Given the description of an element on the screen output the (x, y) to click on. 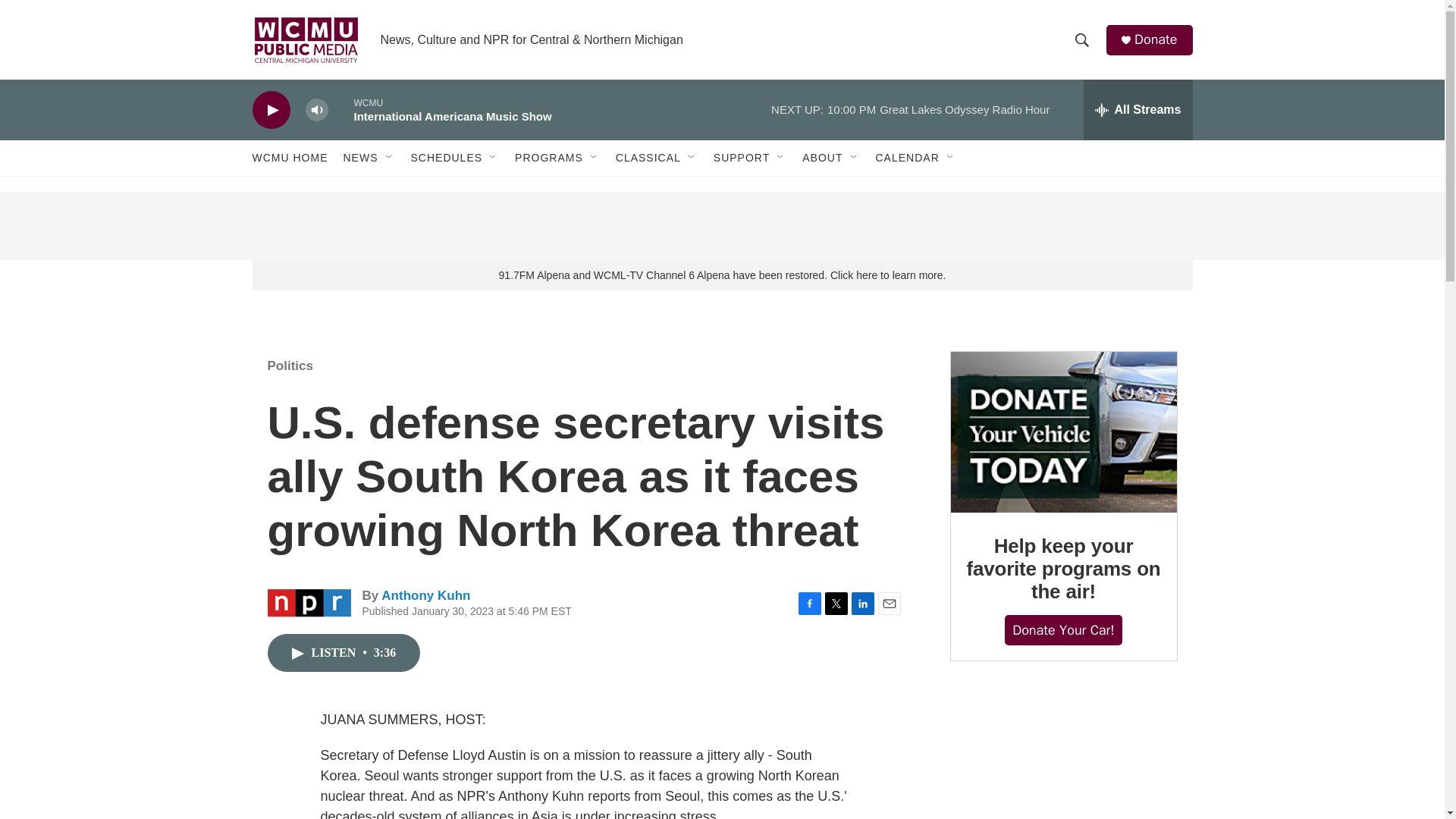
3rd party ad content (1062, 755)
3rd party ad content (721, 225)
